Given the description of an element on the screen output the (x, y) to click on. 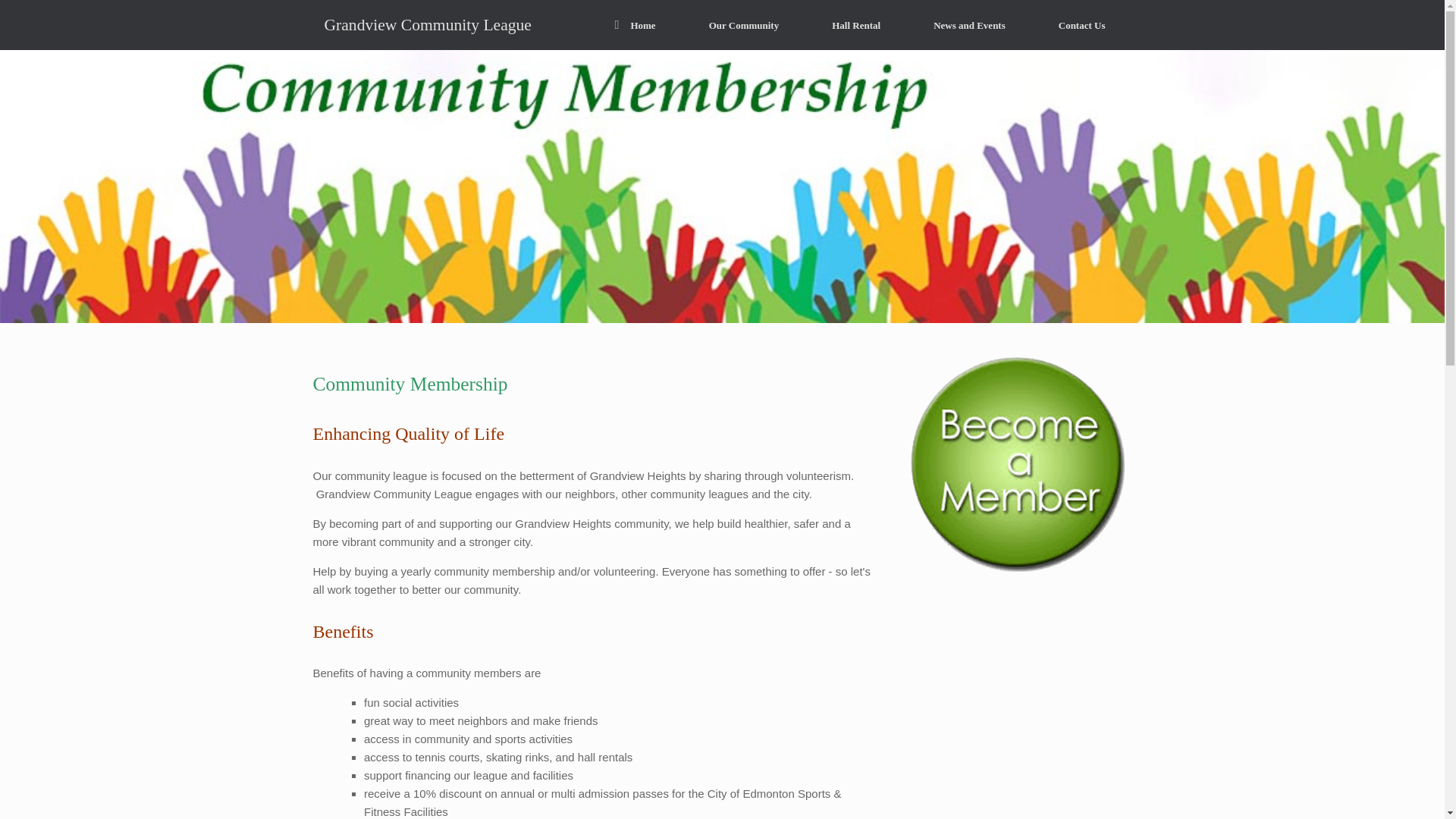
Home (635, 24)
Our Community (744, 24)
Grandview Community League (427, 24)
Grandview Community League (427, 24)
News and Events (969, 24)
Contact Us (1082, 24)
Hall Rental (856, 24)
